Given the description of an element on the screen output the (x, y) to click on. 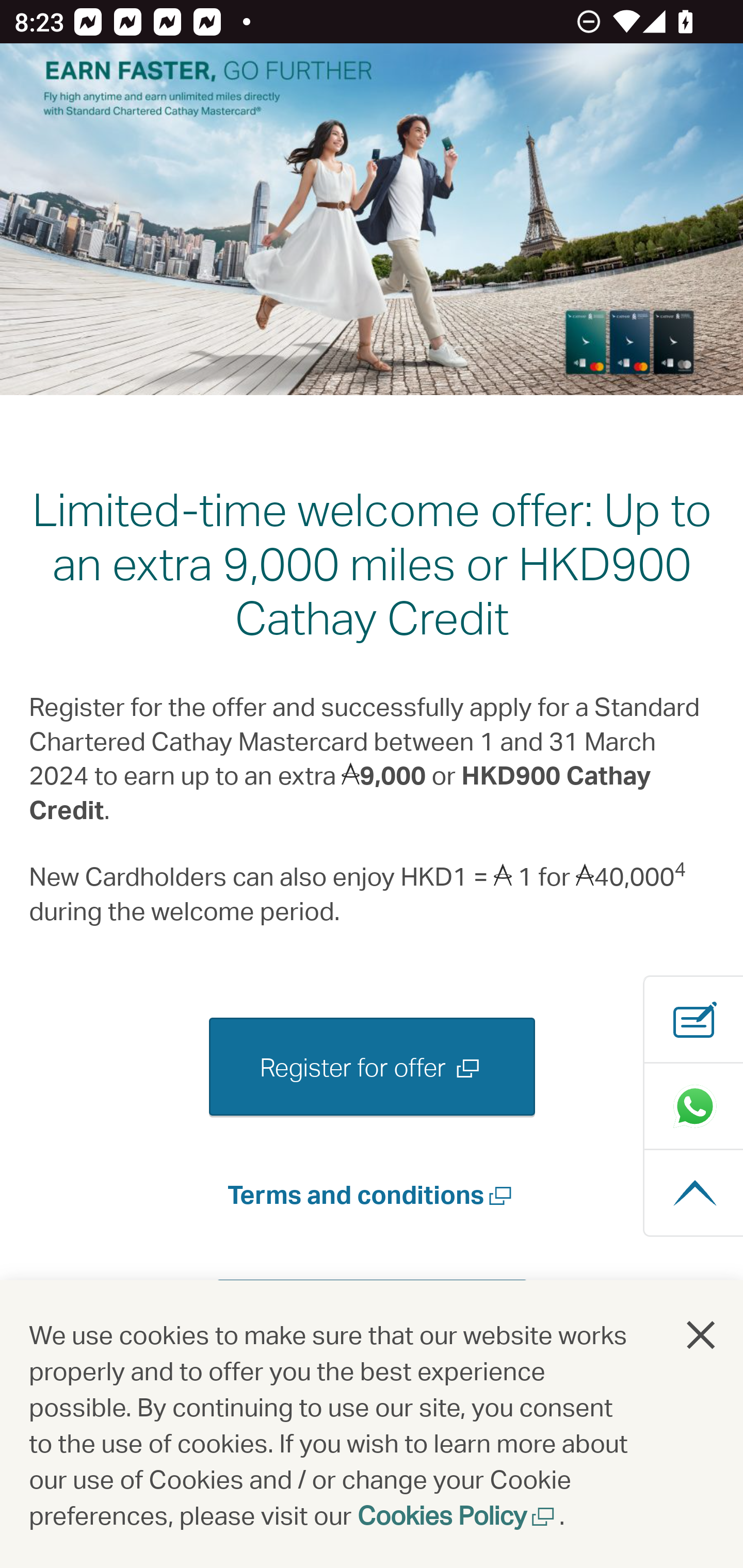
Close (701, 1336)
